Given the description of an element on the screen output the (x, y) to click on. 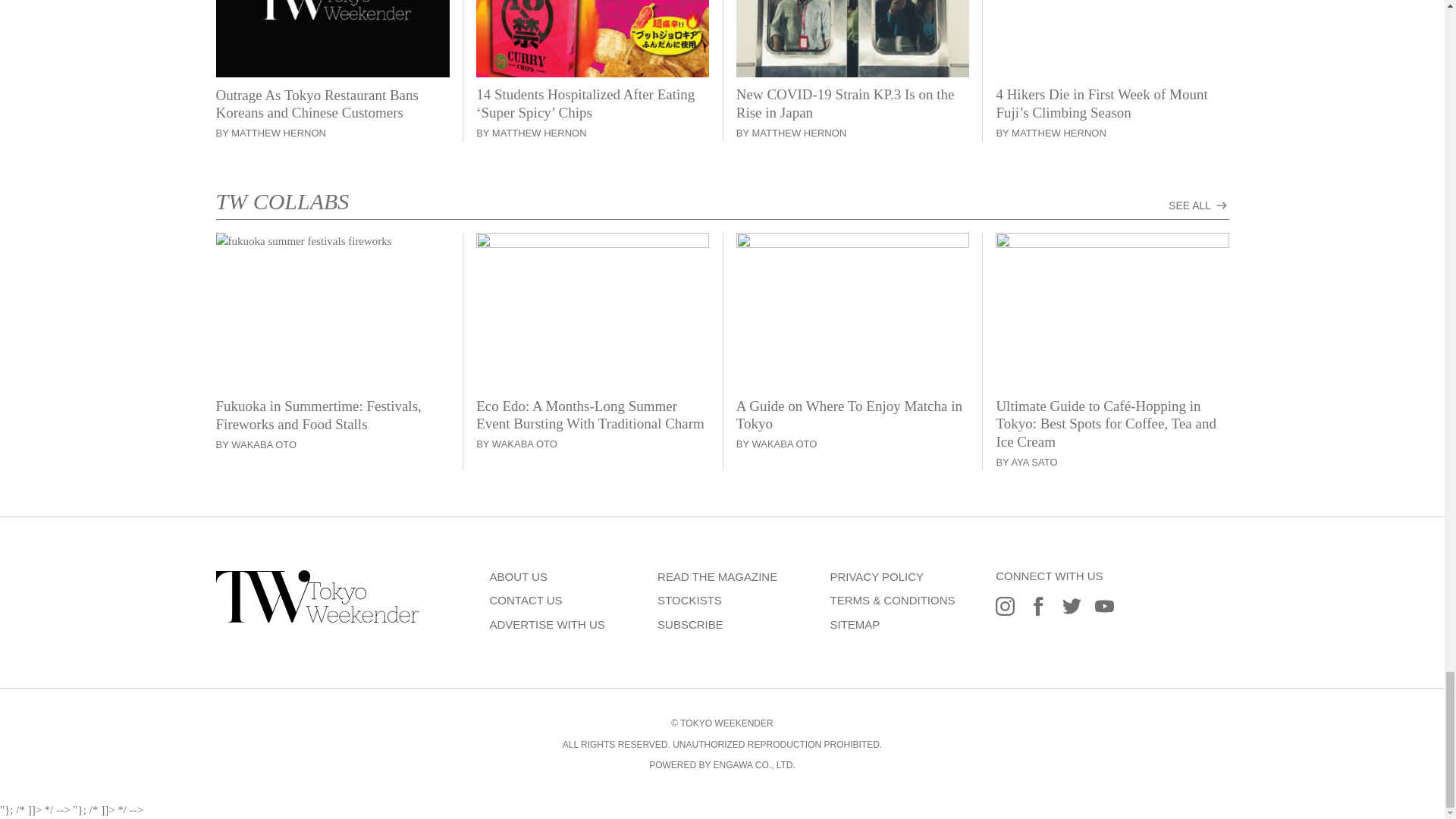
Tokyo Weekender (317, 618)
